Given the description of an element on the screen output the (x, y) to click on. 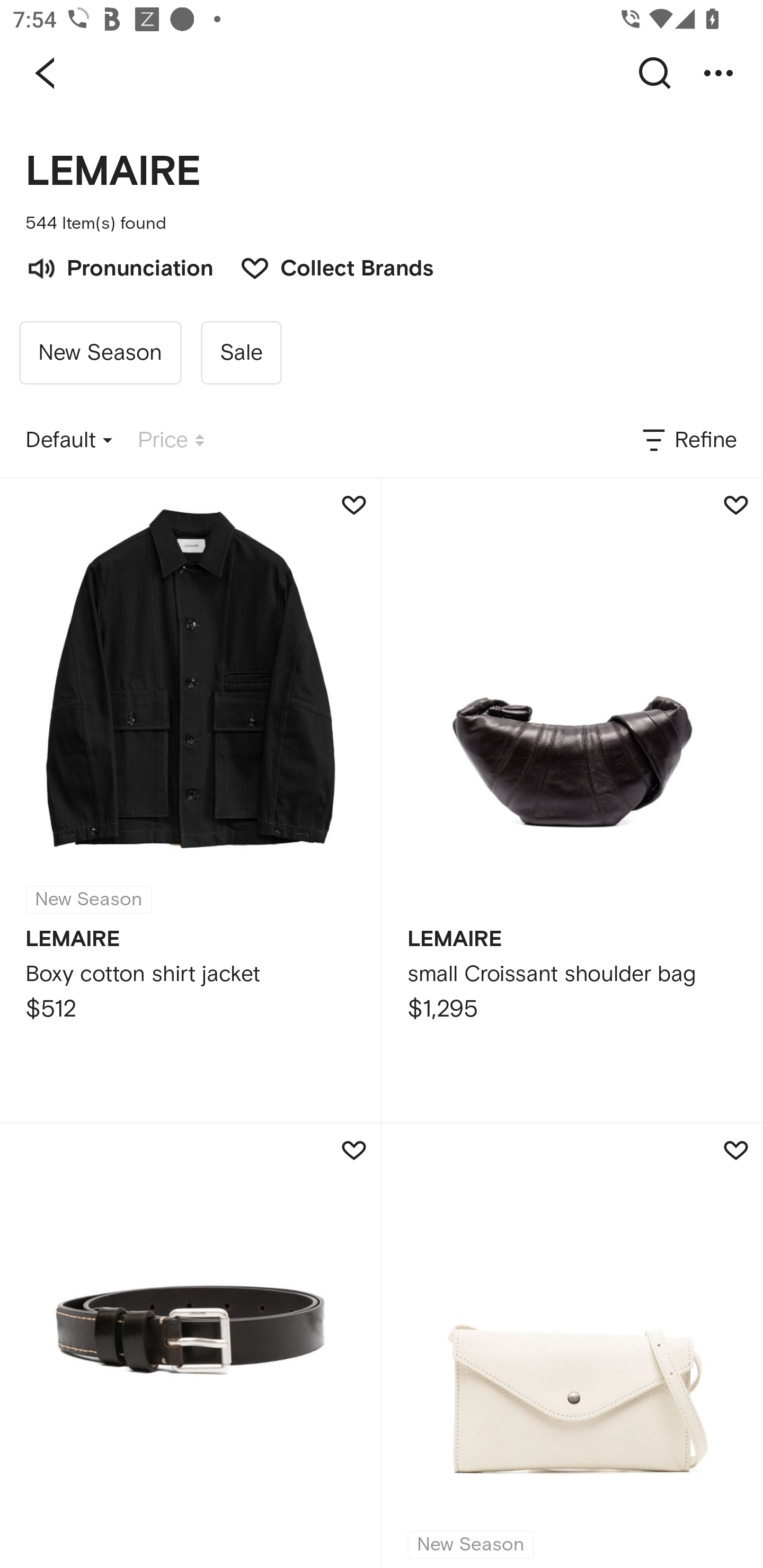
Pronunciation (119, 266)
Collect Brands (327, 266)
New Season (100, 352)
Sale (240, 352)
Default (68, 440)
Price (171, 440)
Refine (688, 440)
New Season LEMAIRE Boxy cotton shirt jacket $512 (190, 800)
LEMAIRE small Croissant shoulder bag $1,295 (572, 800)
New Season (572, 1346)
